Given the description of an element on the screen output the (x, y) to click on. 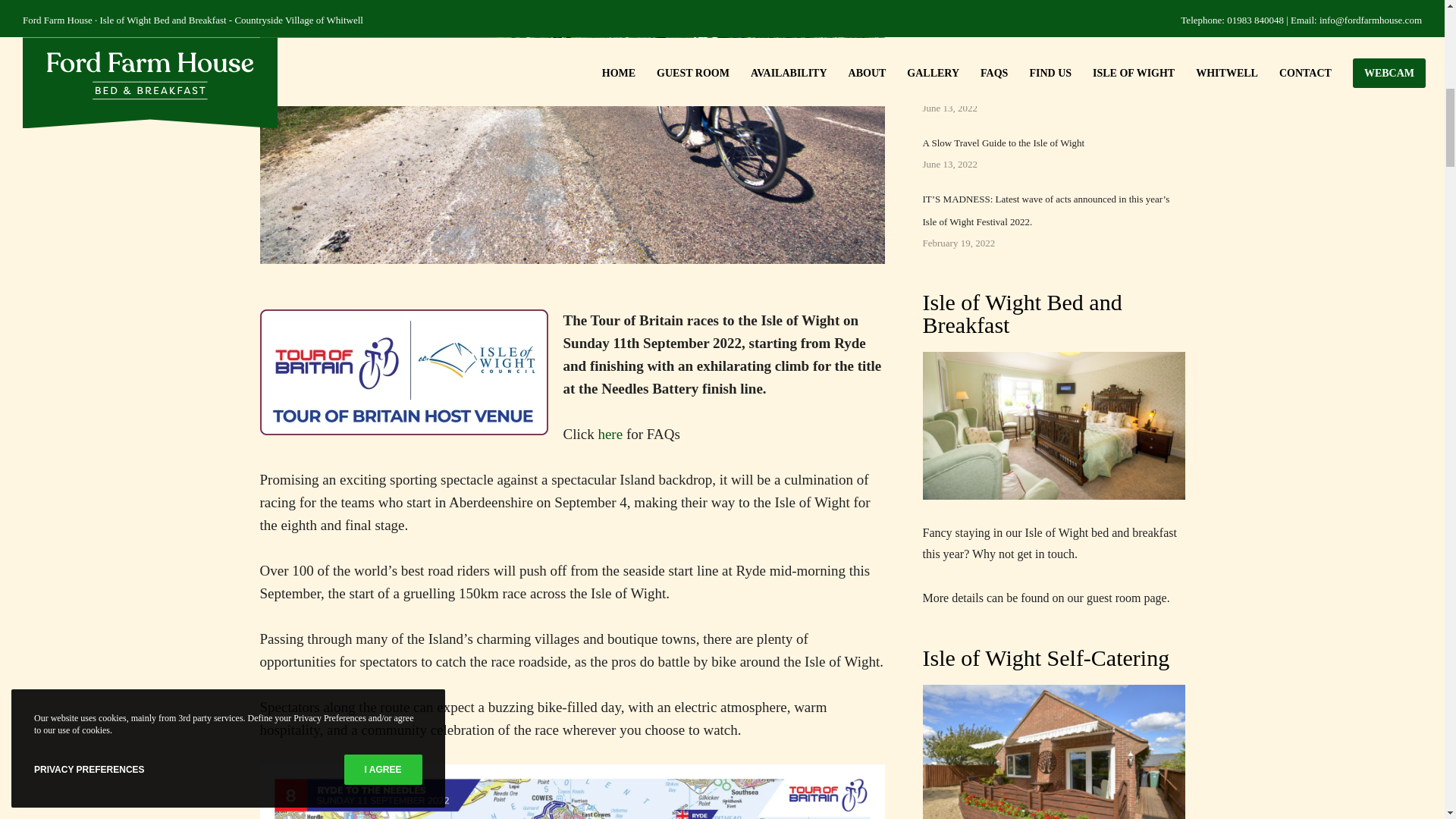
here (609, 433)
guest room (1113, 597)
A Slow Travel Guide to the Isle of Wight (1002, 142)
